Given the description of an element on the screen output the (x, y) to click on. 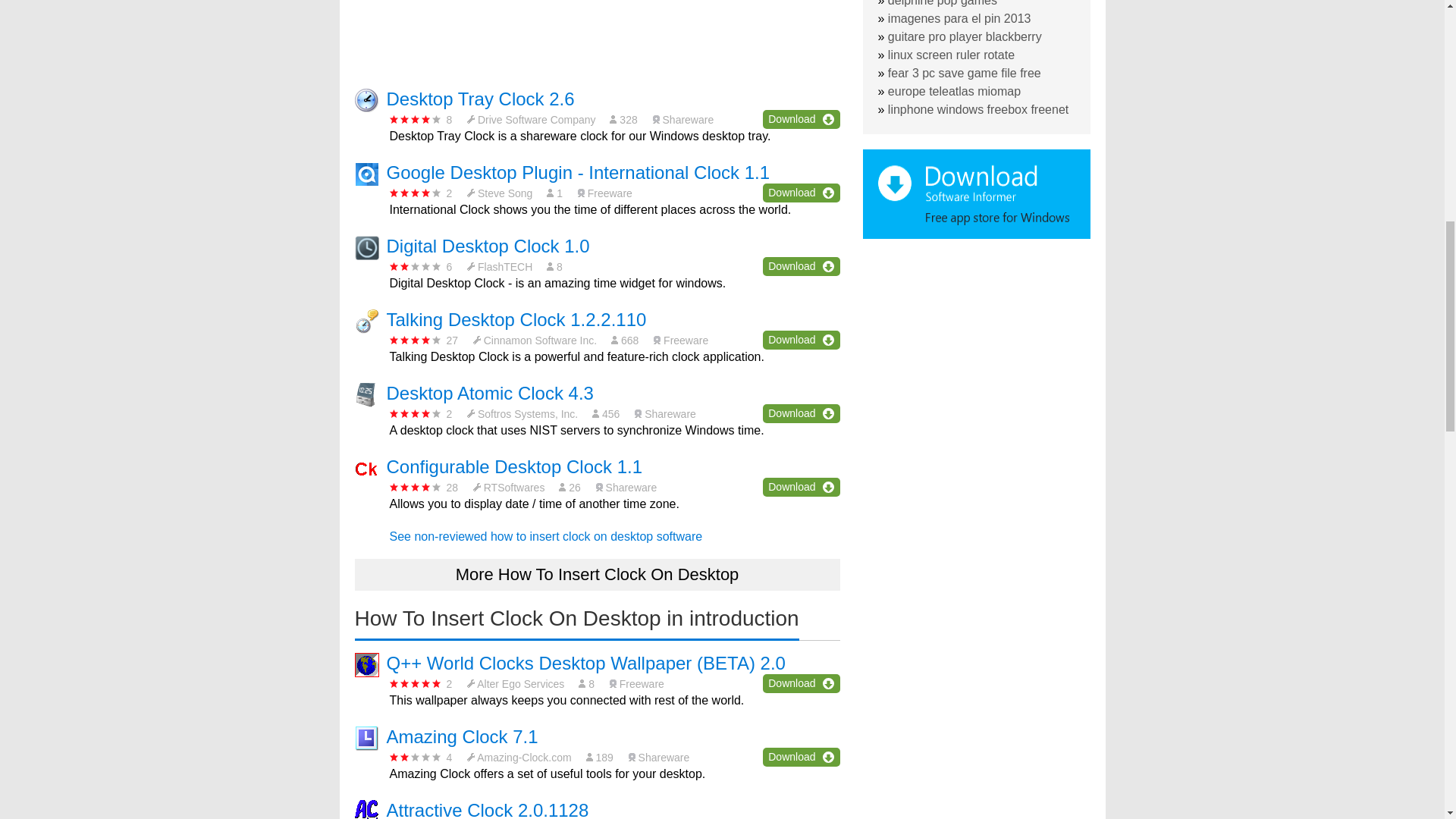
Google Desktop Plugin - International Clock 1.1 (578, 172)
4.1 (415, 339)
Download (801, 756)
Download (801, 192)
Download (801, 413)
Amazing Clock 7.1 (462, 736)
Desktop Tray Clock 2.6 (481, 98)
Google Desktop Plugin - International Clock 1.1 (578, 172)
Attractive Clock 2.0.1128 (488, 809)
Download (801, 683)
